Given the description of an element on the screen output the (x, y) to click on. 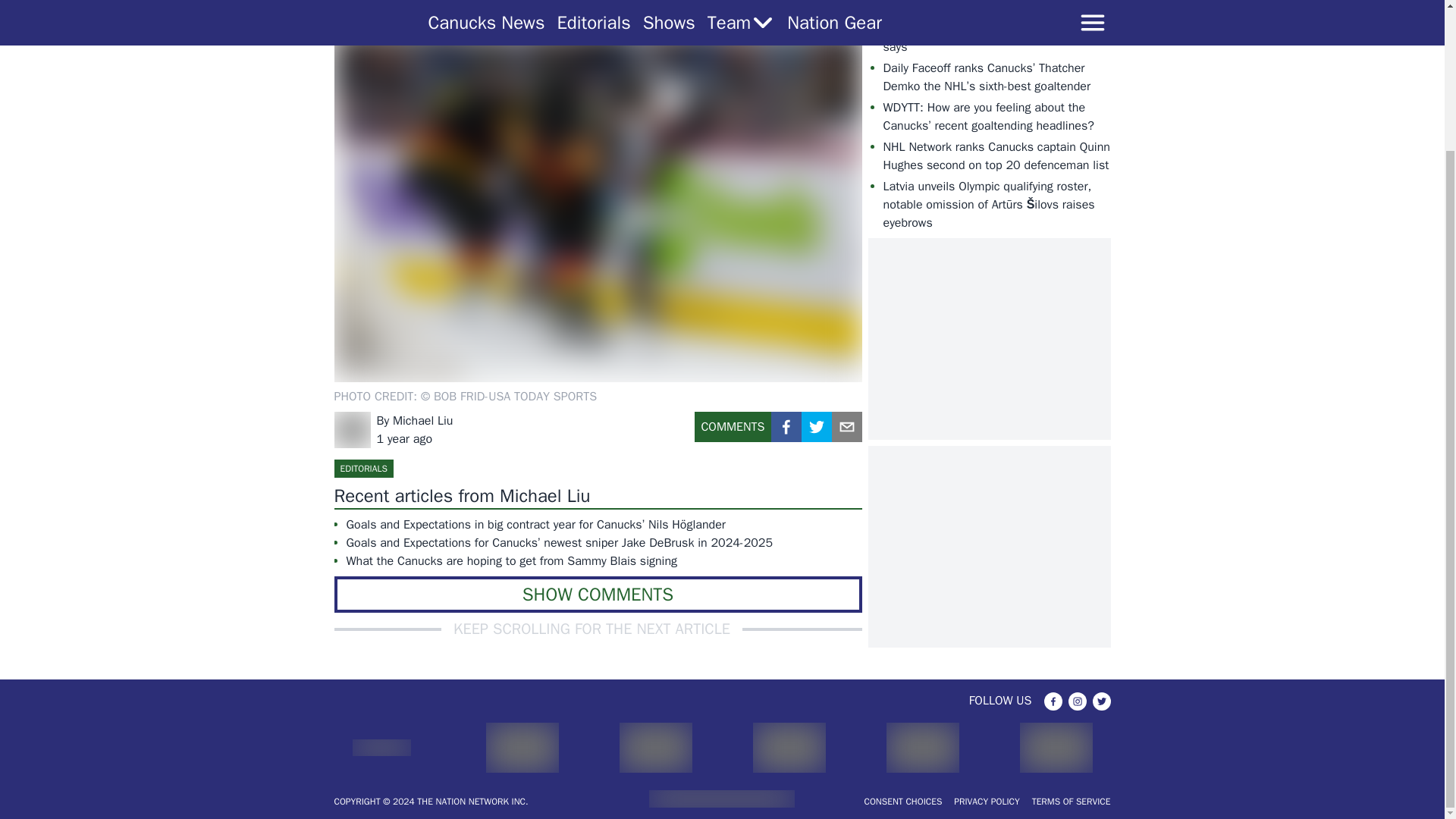
What the Canucks are hoping to get from Sammy Blais signing (559, 561)
SHOW COMMENTS (597, 594)
COMMENTS (732, 432)
Michael Liu (422, 420)
EDITORIALS (363, 468)
SHOW COMMENTS (597, 594)
